Given the description of an element on the screen output the (x, y) to click on. 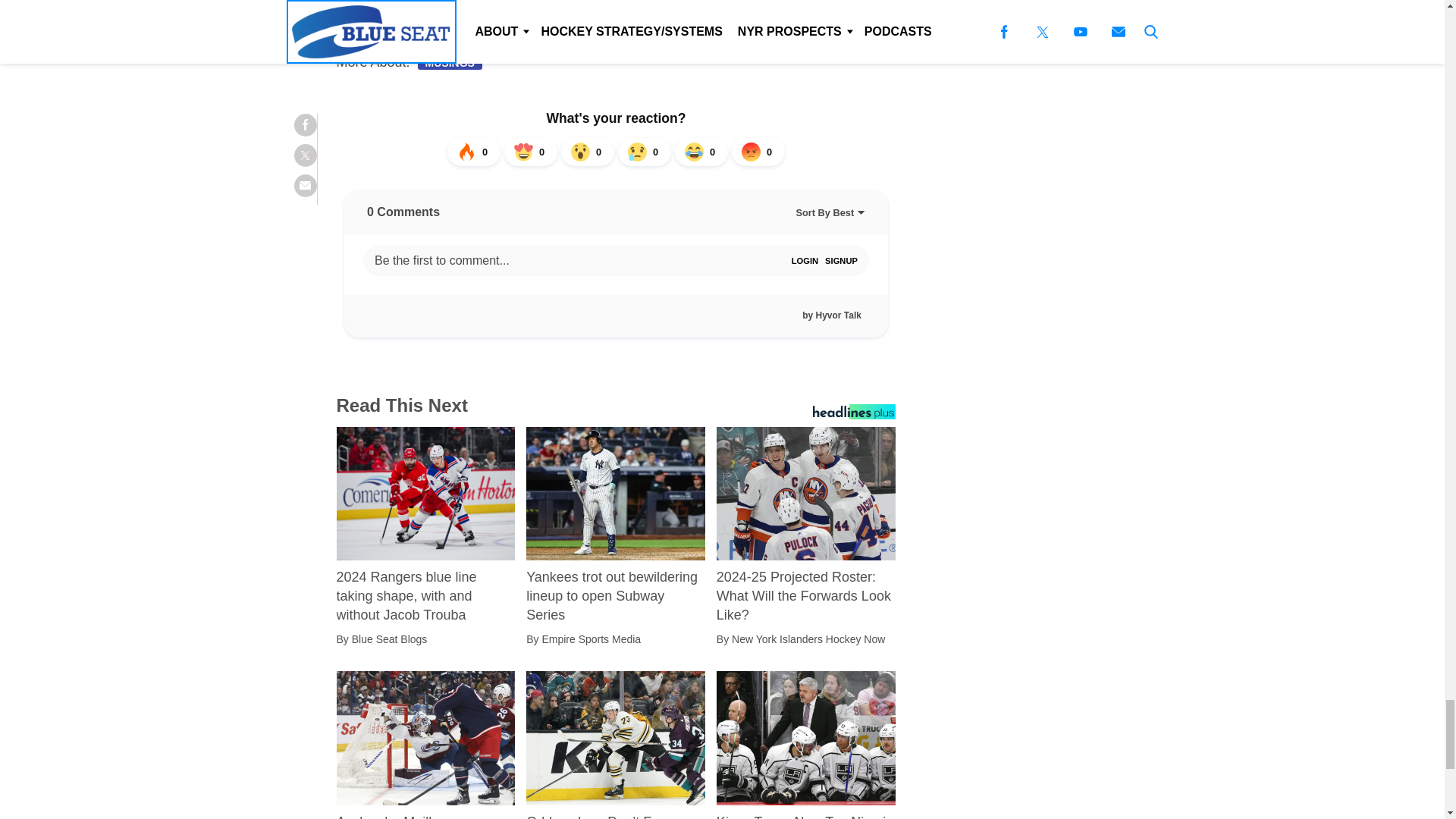
Empire Sports Media (590, 639)
Yankees trot out bewildering lineup to open Subway Series (614, 596)
MUSINGS (449, 62)
VITALI KRAVTSOV (545, 34)
Blue Seat Blogs (390, 639)
